Given the description of an element on the screen output the (x, y) to click on. 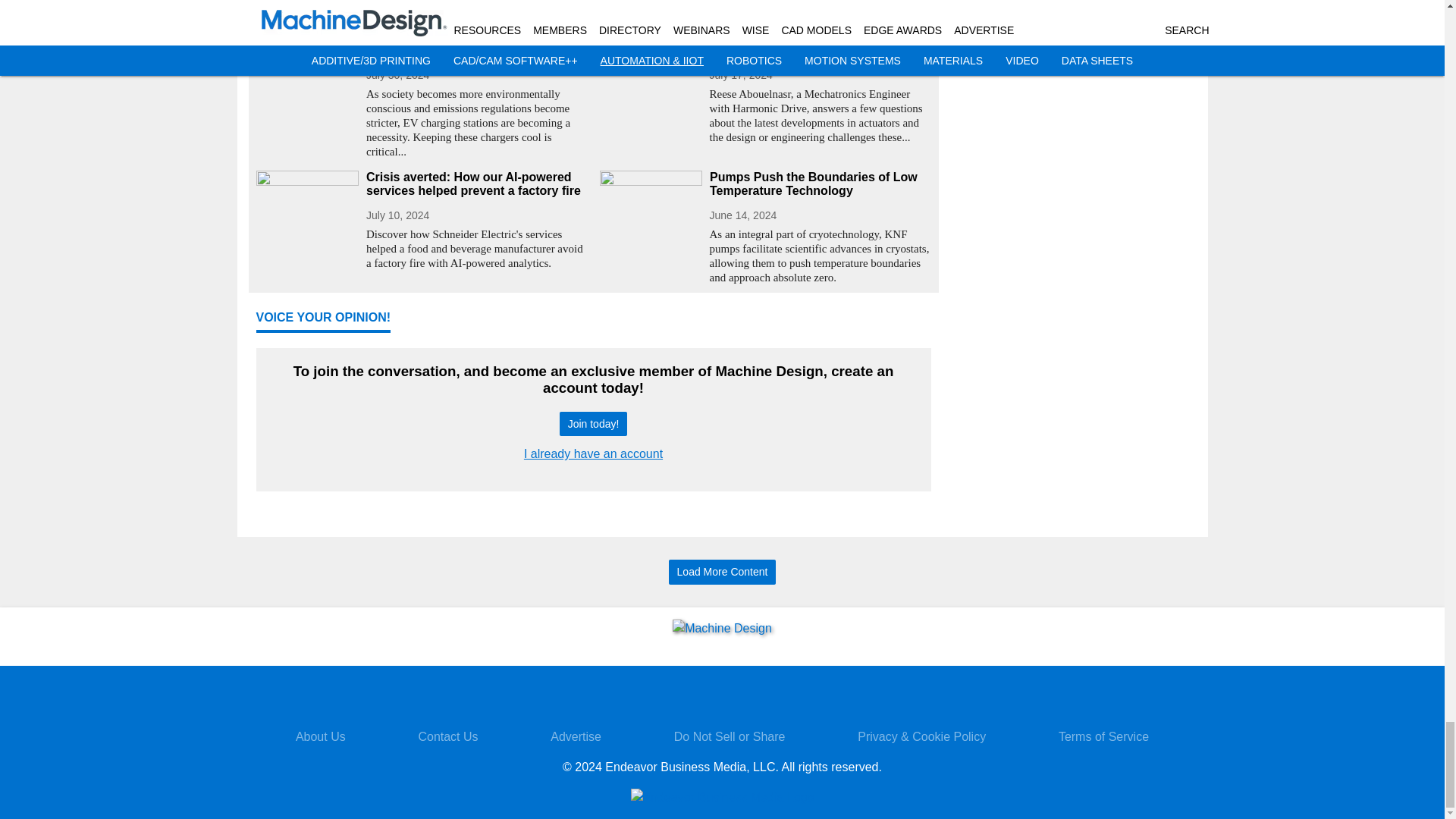
Pump Technology Keeps EV Charging Stations Cool (476, 43)
How to Build Better Robotics with Integrated Actuators (820, 43)
